Given the description of an element on the screen output the (x, y) to click on. 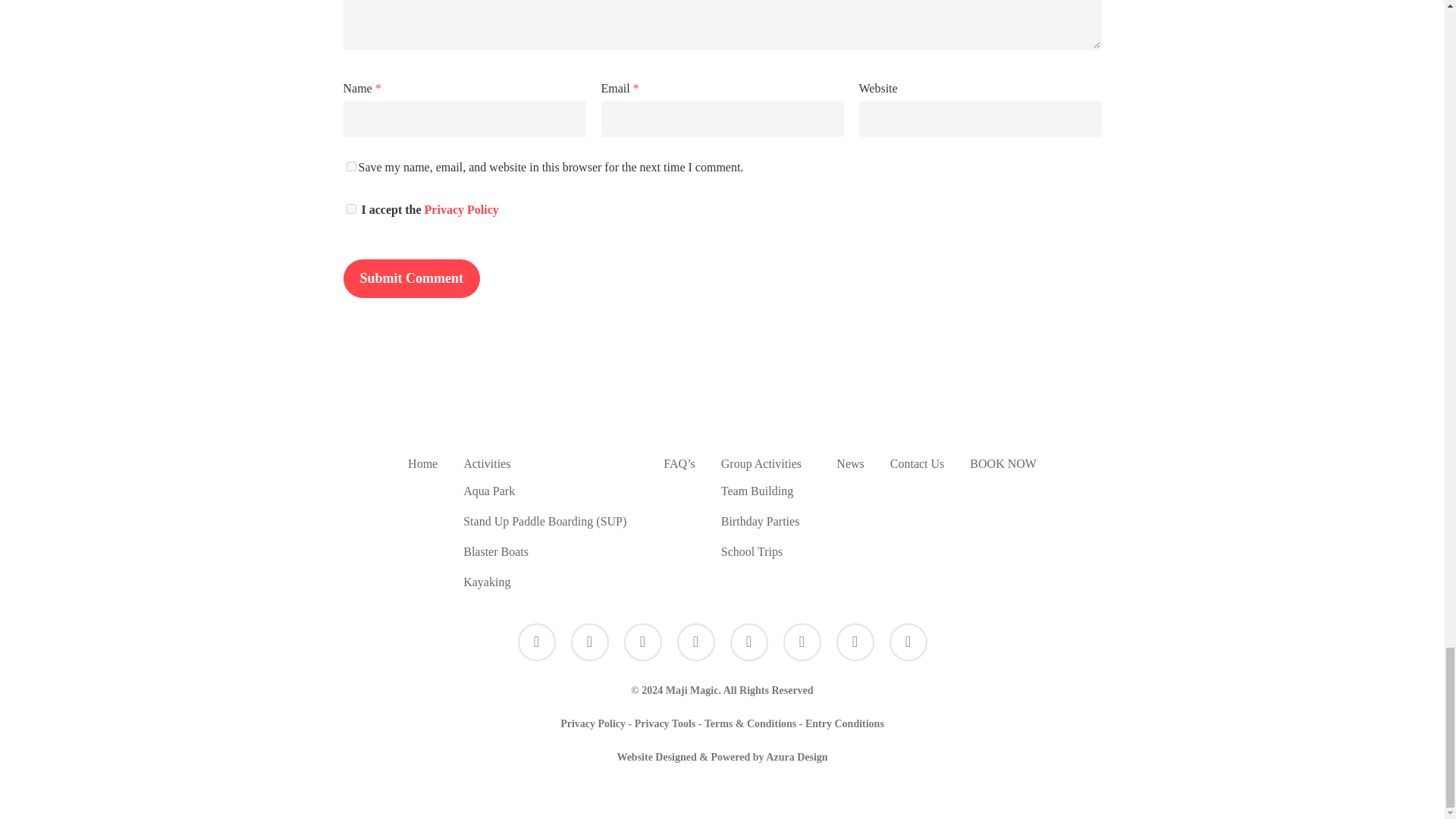
1 (350, 208)
Submit Comment (411, 278)
yes (350, 166)
